Given the description of an element on the screen output the (x, y) to click on. 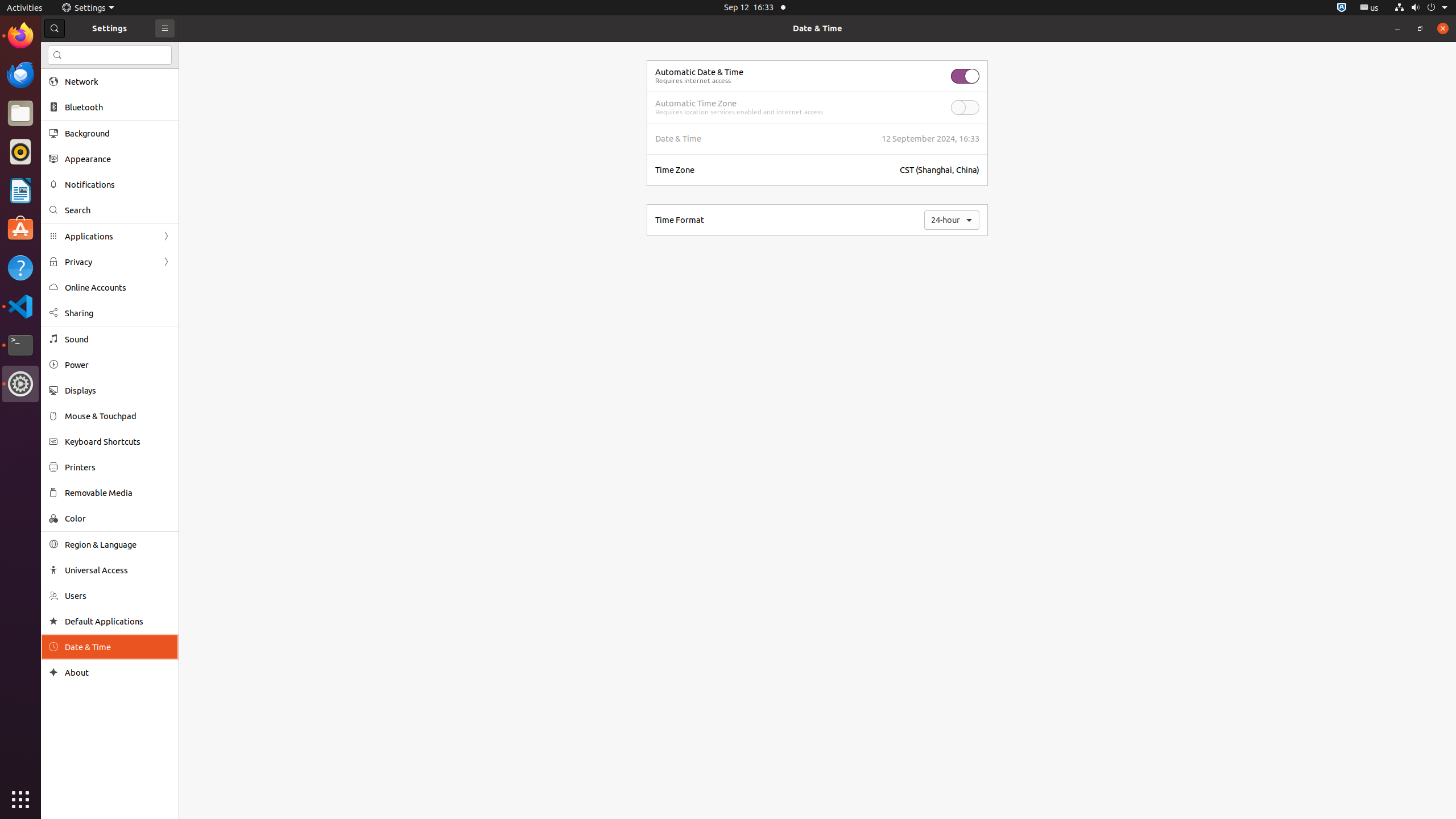
Settings Element type: push-button (20, 383)
Mouse & Touchpad Element type: label (117, 415)
luyi1 Element type: label (75, 50)
